Given the description of an element on the screen output the (x, y) to click on. 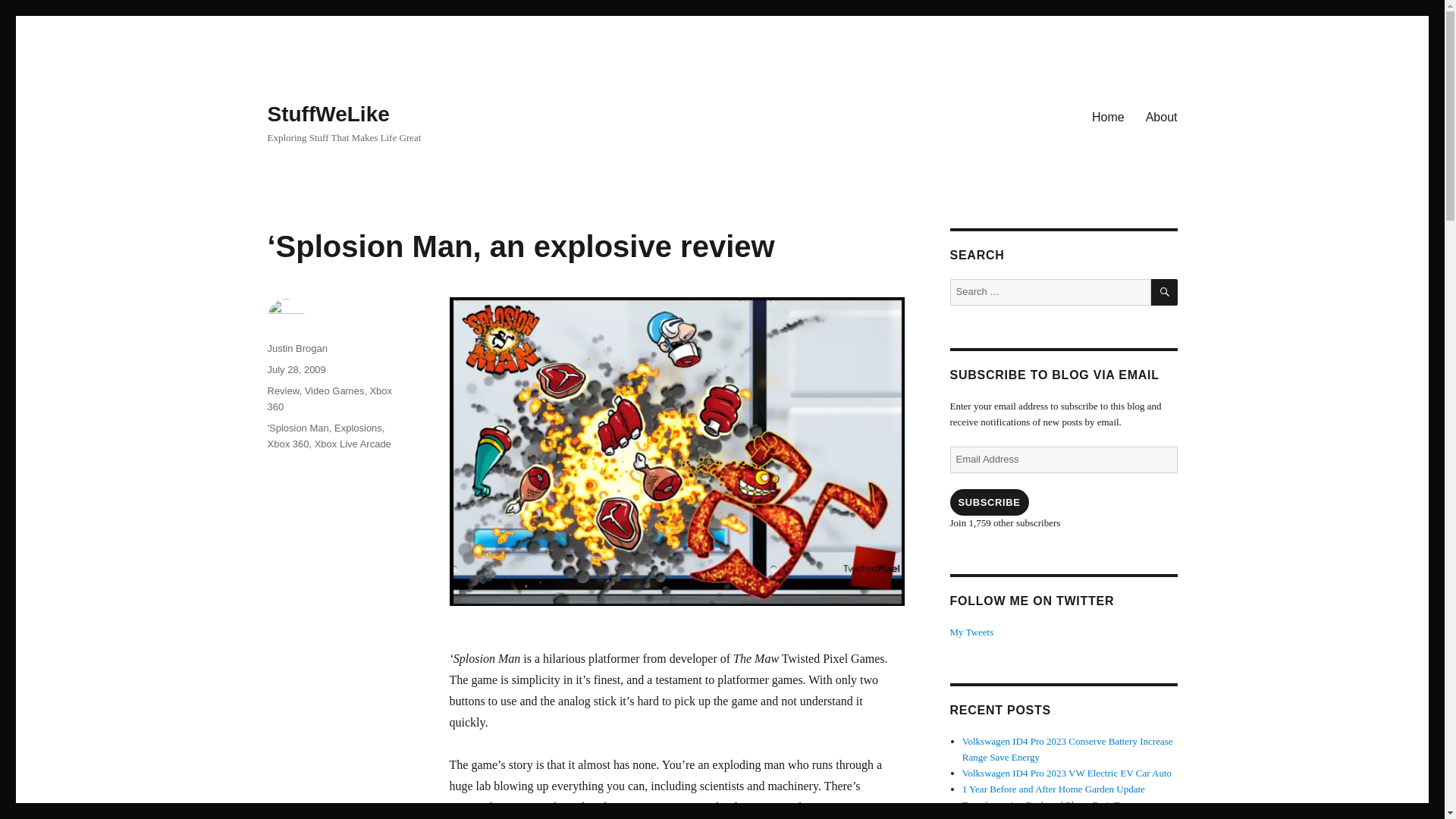
SUBSCRIBE (988, 501)
Home (1108, 116)
July 28, 2009 (295, 369)
Volkswagen ID4 Pro 2023 VW Electric EV Car Auto (1067, 772)
Xbox 360 (287, 443)
My Tweets (970, 632)
About (1161, 116)
Xbox Live Arcade (352, 443)
Xbox 360 (328, 398)
StuffWeLike (327, 114)
Justin Brogan (296, 348)
Explosions (357, 428)
SEARCH (1164, 292)
Review (282, 390)
